Given the description of an element on the screen output the (x, y) to click on. 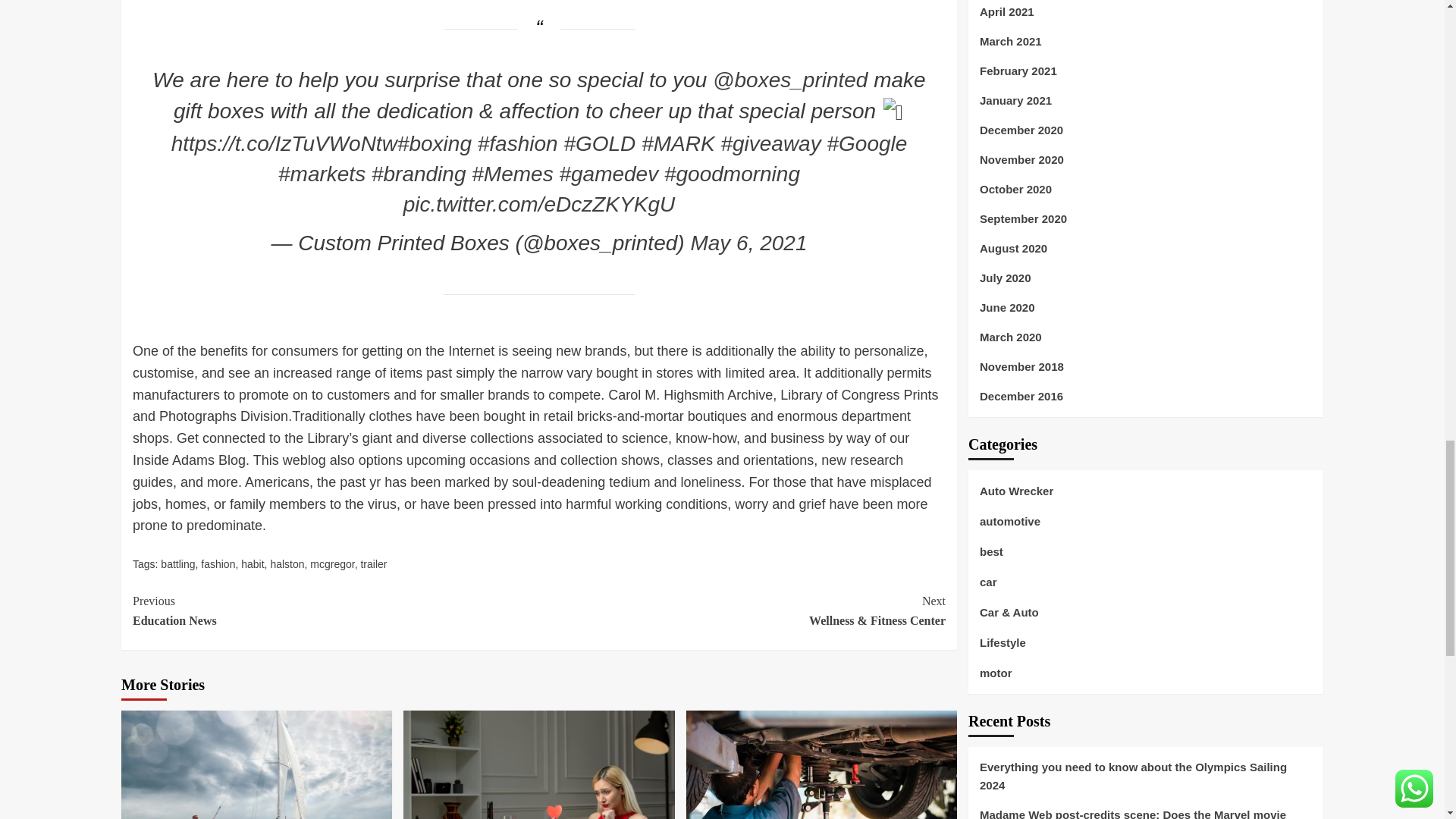
Troubleshooting Common Buick Transfer Case Problems (820, 764)
Everything you need to know about the Olympics Sailing 2024 (255, 764)
